Given the description of an element on the screen output the (x, y) to click on. 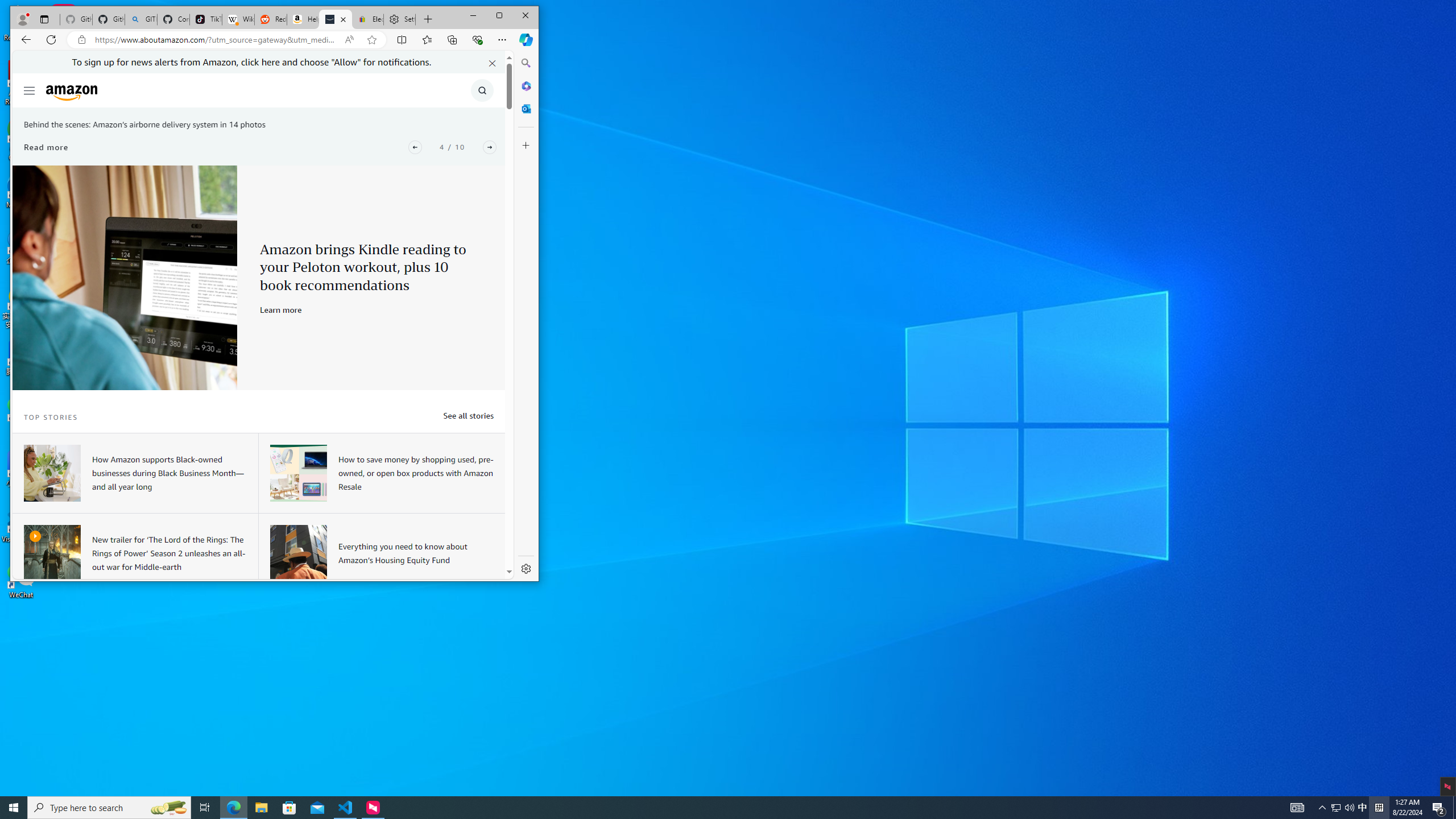
New Tab (428, 19)
GITHUB - Search (140, 19)
Help & Contact Us - Amazon Customer Service (303, 19)
See all stories (467, 415)
File Explorer (261, 807)
Peloton x Kindle (125, 277)
Action Center, 2 new notifications (1362, 807)
Show desktop (1439, 807)
View site information (1454, 807)
